Given the description of an element on the screen output the (x, y) to click on. 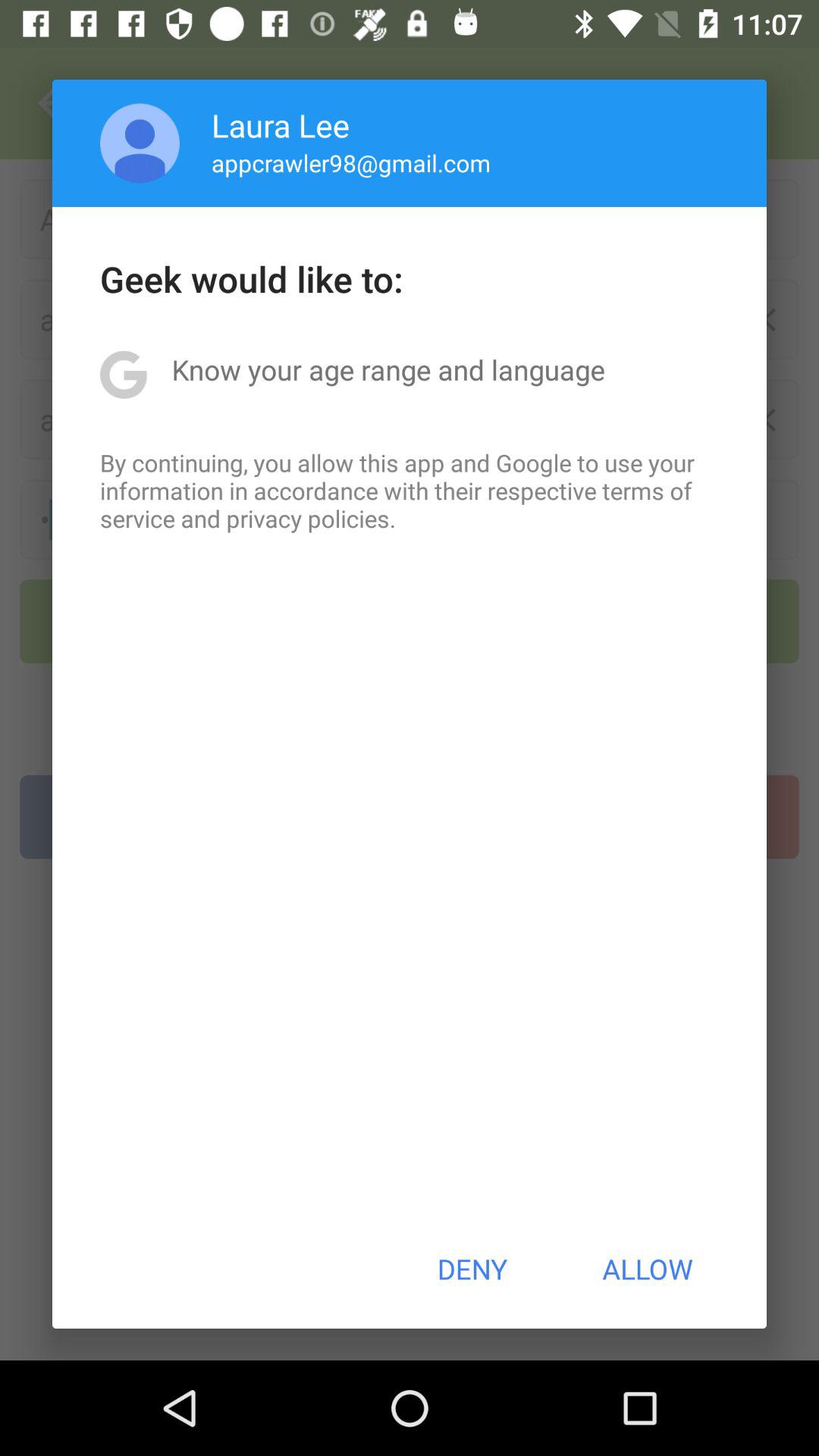
choose the item next to allow (471, 1268)
